Given the description of an element on the screen output the (x, y) to click on. 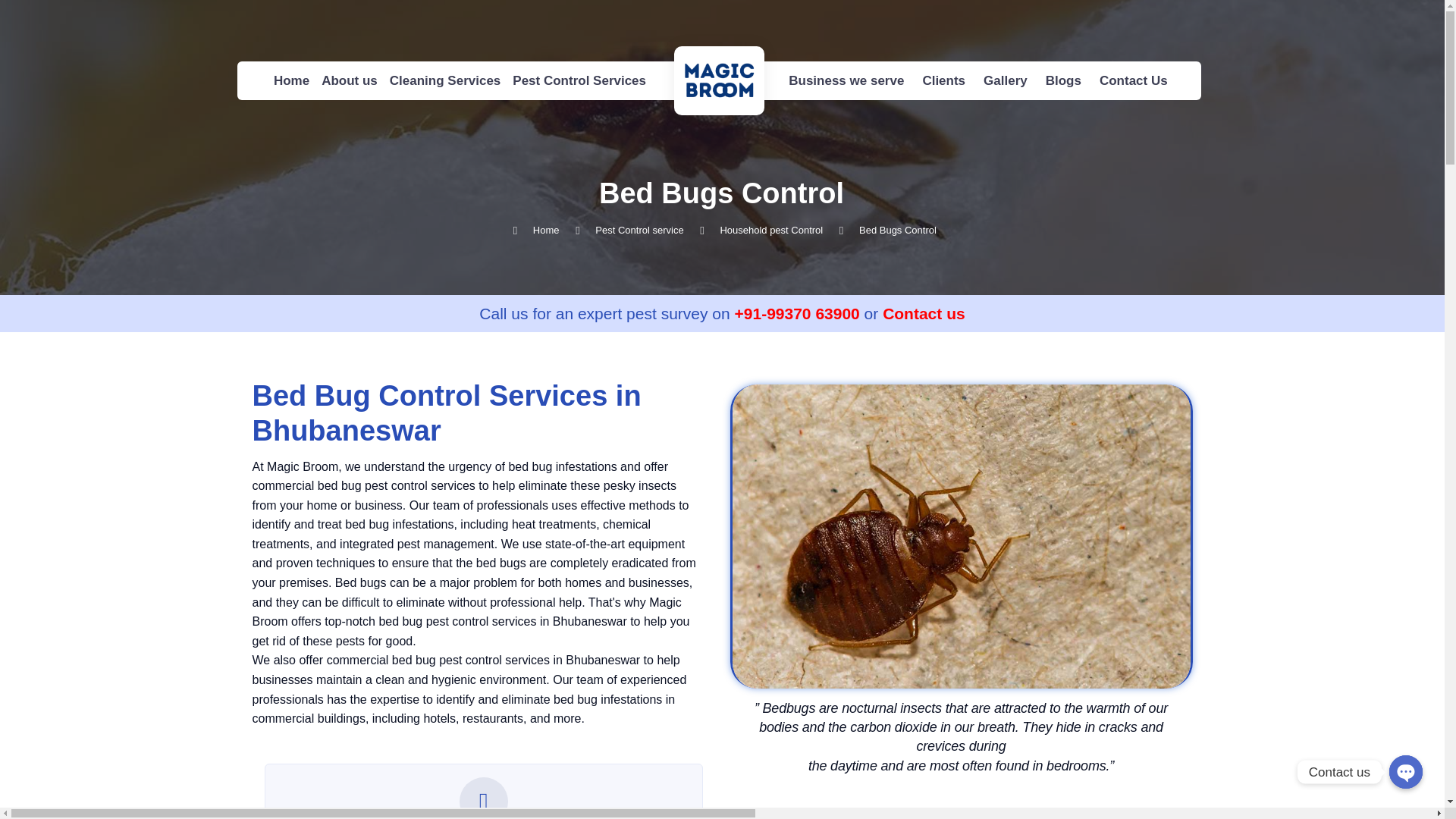
Pest Control Services (579, 81)
Cleaning Services (445, 81)
Home (290, 81)
About us (349, 81)
